Given the description of an element on the screen output the (x, y) to click on. 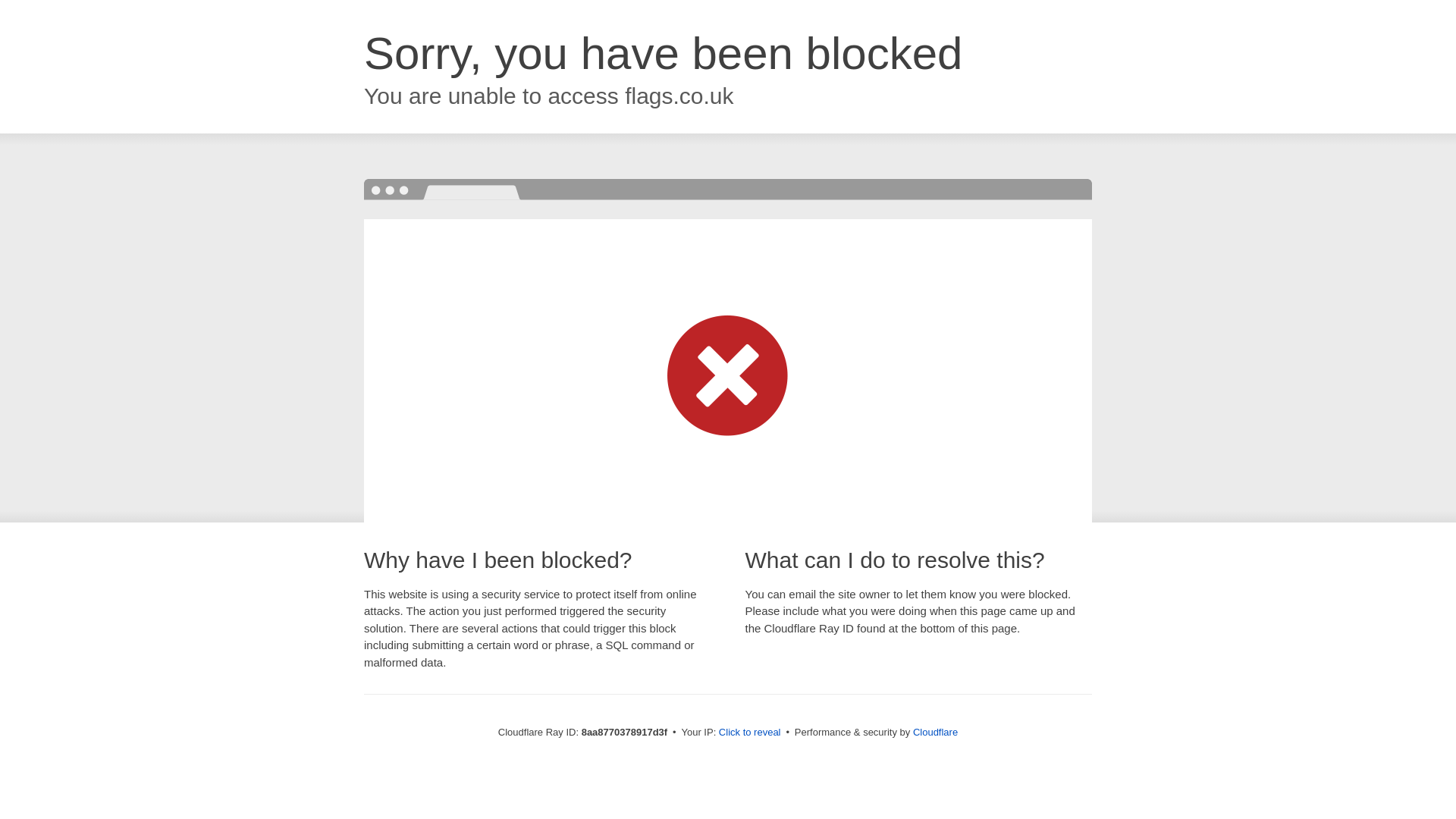
Cloudflare (935, 731)
Click to reveal (749, 732)
